Given the description of an element on the screen output the (x, y) to click on. 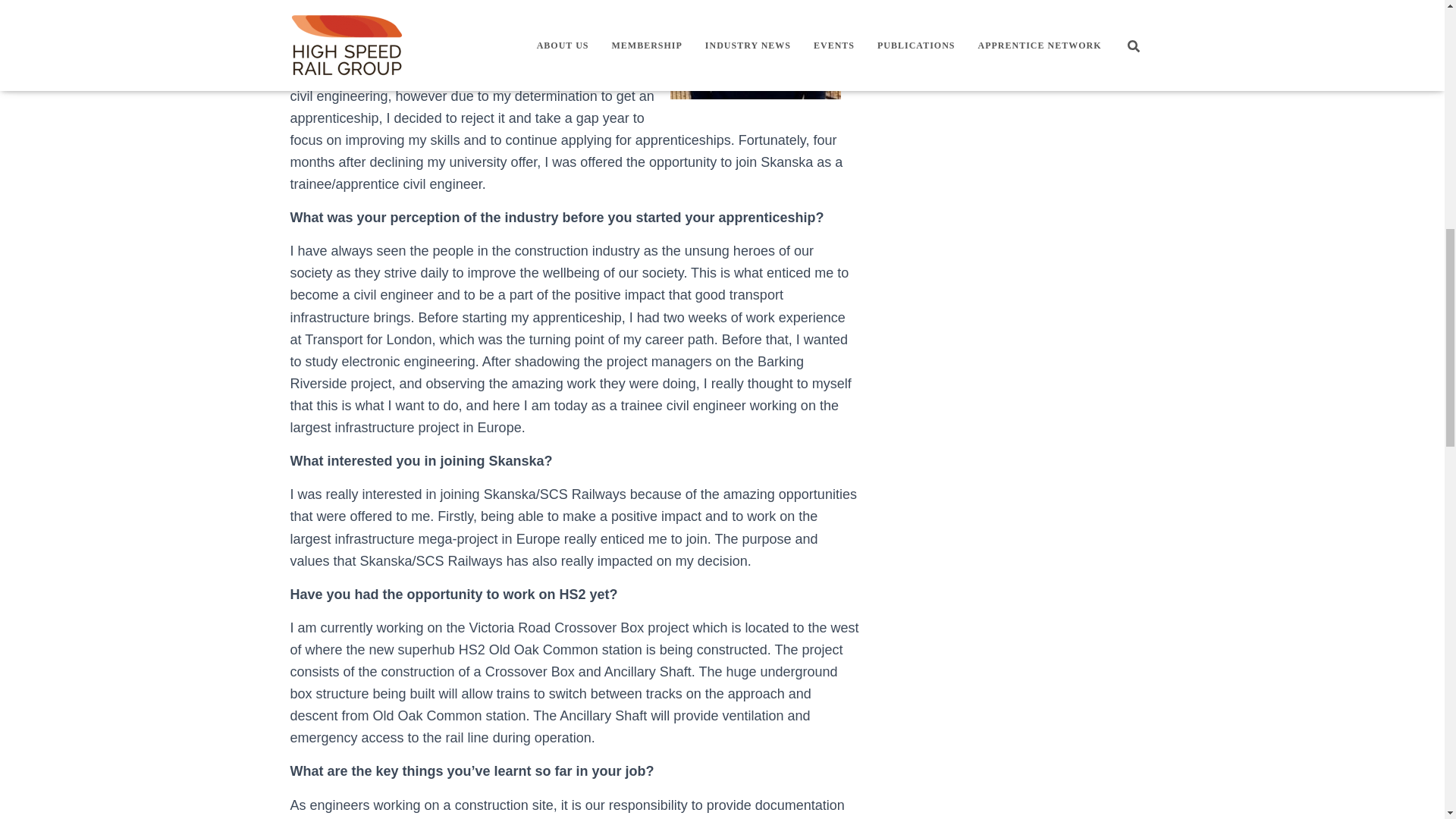
HSRG congratulates new Prime Minister (1040, 4)
HSRG welcomes Mattias Bjornfors to the Board of Directors (1055, 36)
